Given the description of an element on the screen output the (x, y) to click on. 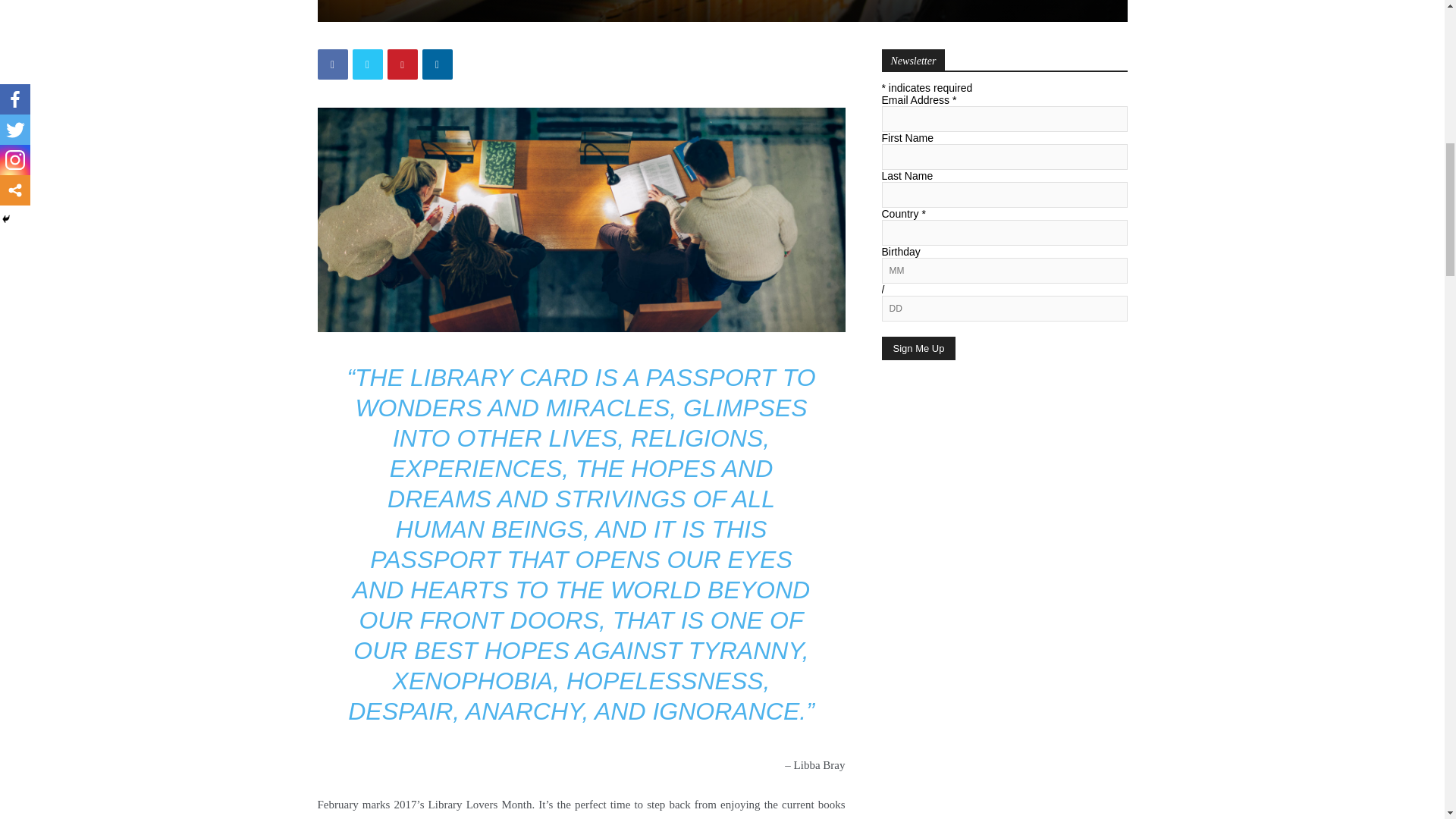
Sign Me Up (917, 348)
